Given the description of an element on the screen output the (x, y) to click on. 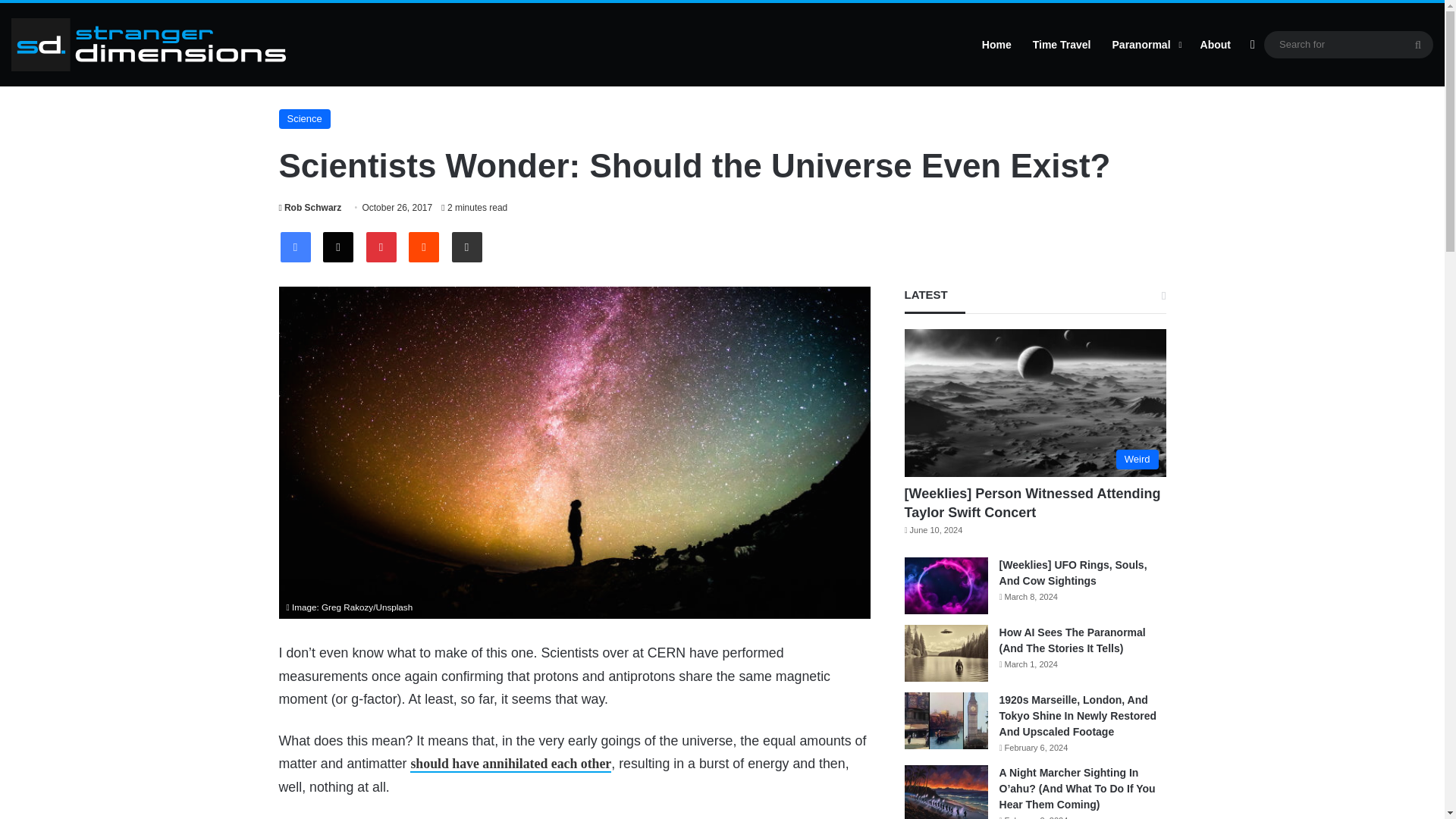
should have annihilated each other (510, 764)
Rob Schwarz (310, 207)
Search for (1347, 44)
Share via Email (466, 246)
X (338, 246)
Paranormal (1145, 44)
Pinterest (381, 246)
Facebook (296, 246)
Search for (1417, 44)
Share via Email (466, 246)
